Given the description of an element on the screen output the (x, y) to click on. 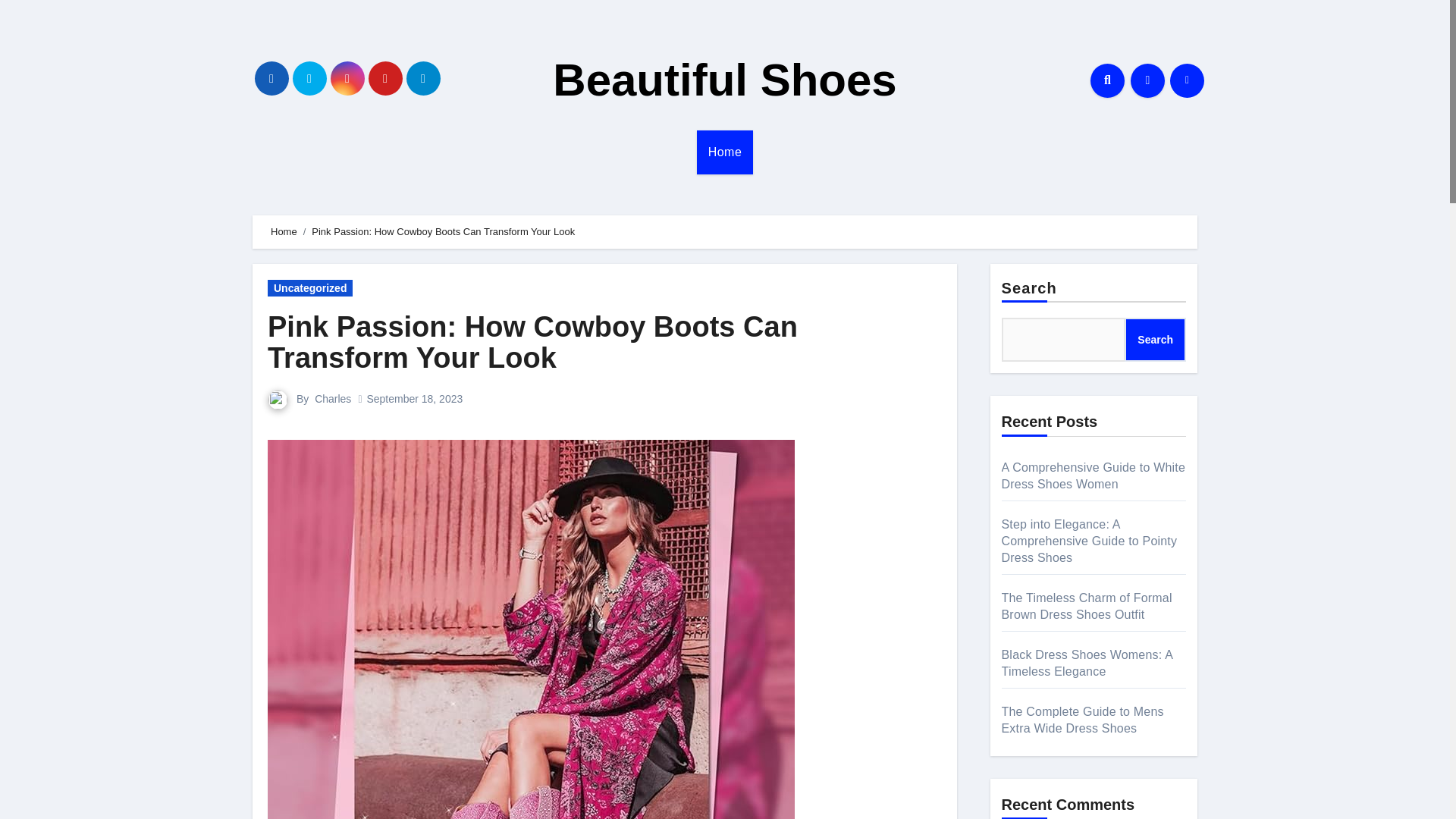
Charles (332, 398)
Pink Passion: How Cowboy Boots Can Transform Your Look (532, 342)
Home (283, 231)
Beautiful Shoes (724, 79)
Uncategorized (309, 288)
Home (725, 152)
September 18, 2023 (414, 398)
Home (725, 152)
